Given the description of an element on the screen output the (x, y) to click on. 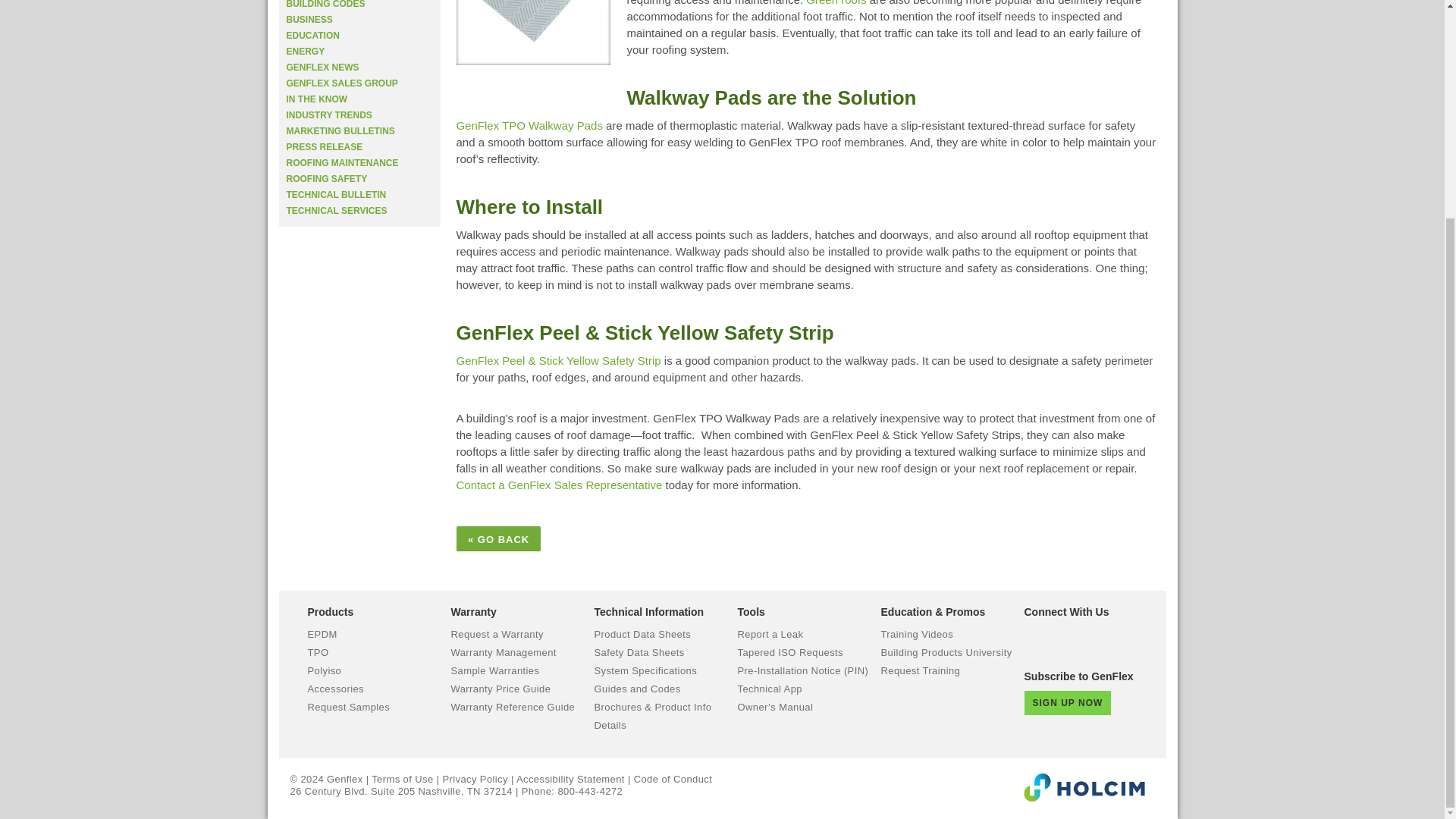
View all posts in Technical Bulletin (336, 194)
View all posts in Marketing Bulletins (340, 131)
View all posts in In the Know (316, 99)
View all posts in Press Release (324, 146)
View all posts in Building Codes (325, 4)
View all posts in GenFlex Sales Group (341, 82)
View all posts in Technical Services (336, 210)
View all posts in Roofing Maintenance (342, 163)
View all posts in Business (309, 19)
View all posts in Education (312, 35)
